Given the description of an element on the screen output the (x, y) to click on. 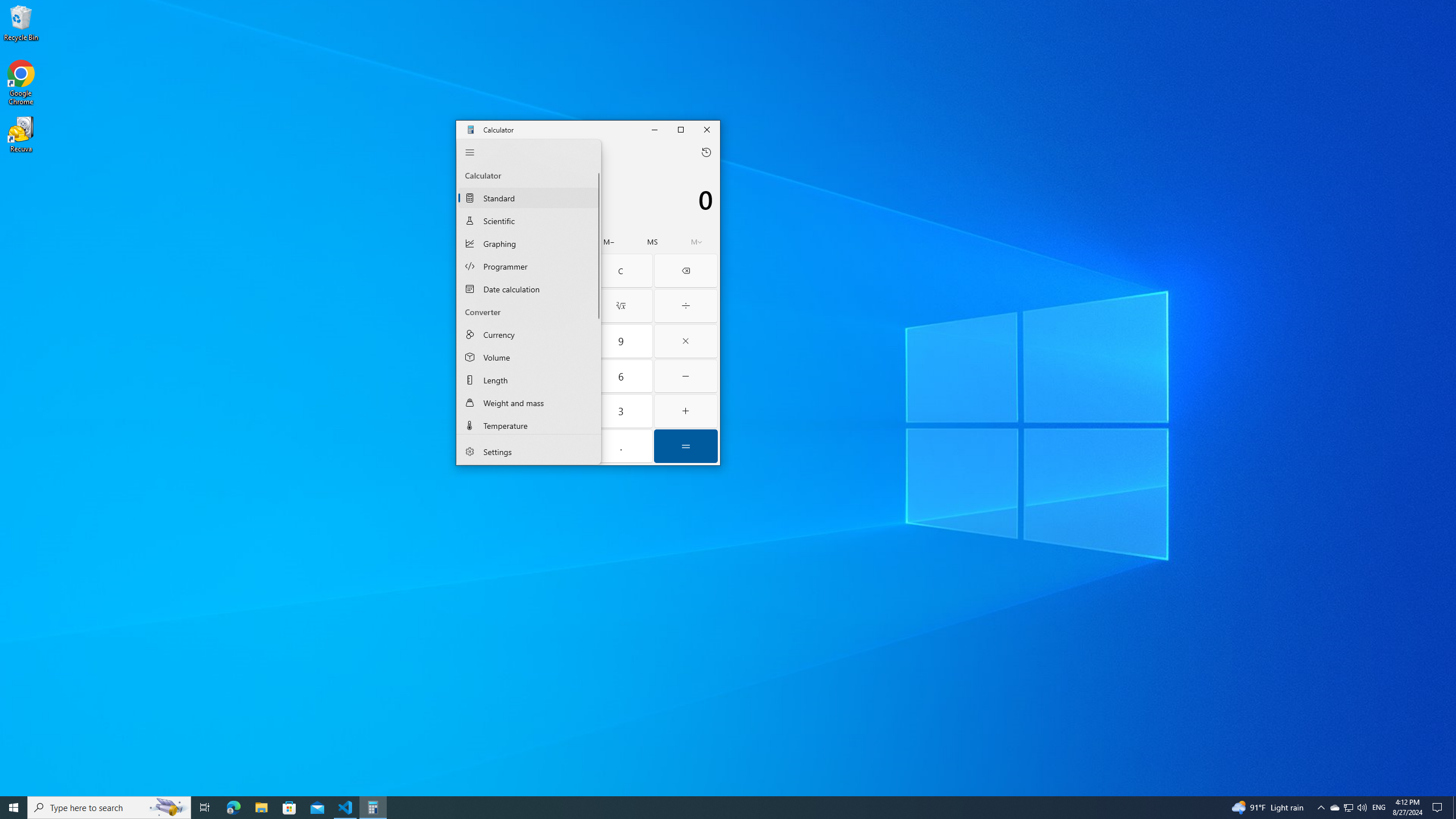
Keep on top (544, 152)
Memory subtract (609, 241)
Positive negative (490, 445)
Vertical Small Increase (597, 428)
Standard Calculator (528, 197)
Programmer Calculator (528, 265)
Clear (620, 270)
Equals (685, 445)
Zero (556, 445)
Four (490, 376)
Five (556, 376)
Clear entry (556, 270)
